Given the description of an element on the screen output the (x, y) to click on. 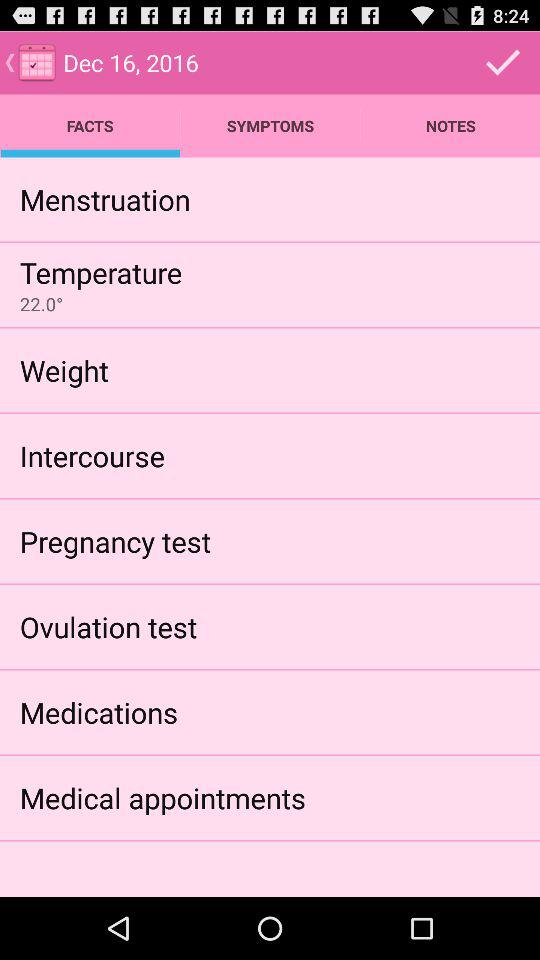
click icon above medical appointments item (98, 712)
